Given the description of an element on the screen output the (x, y) to click on. 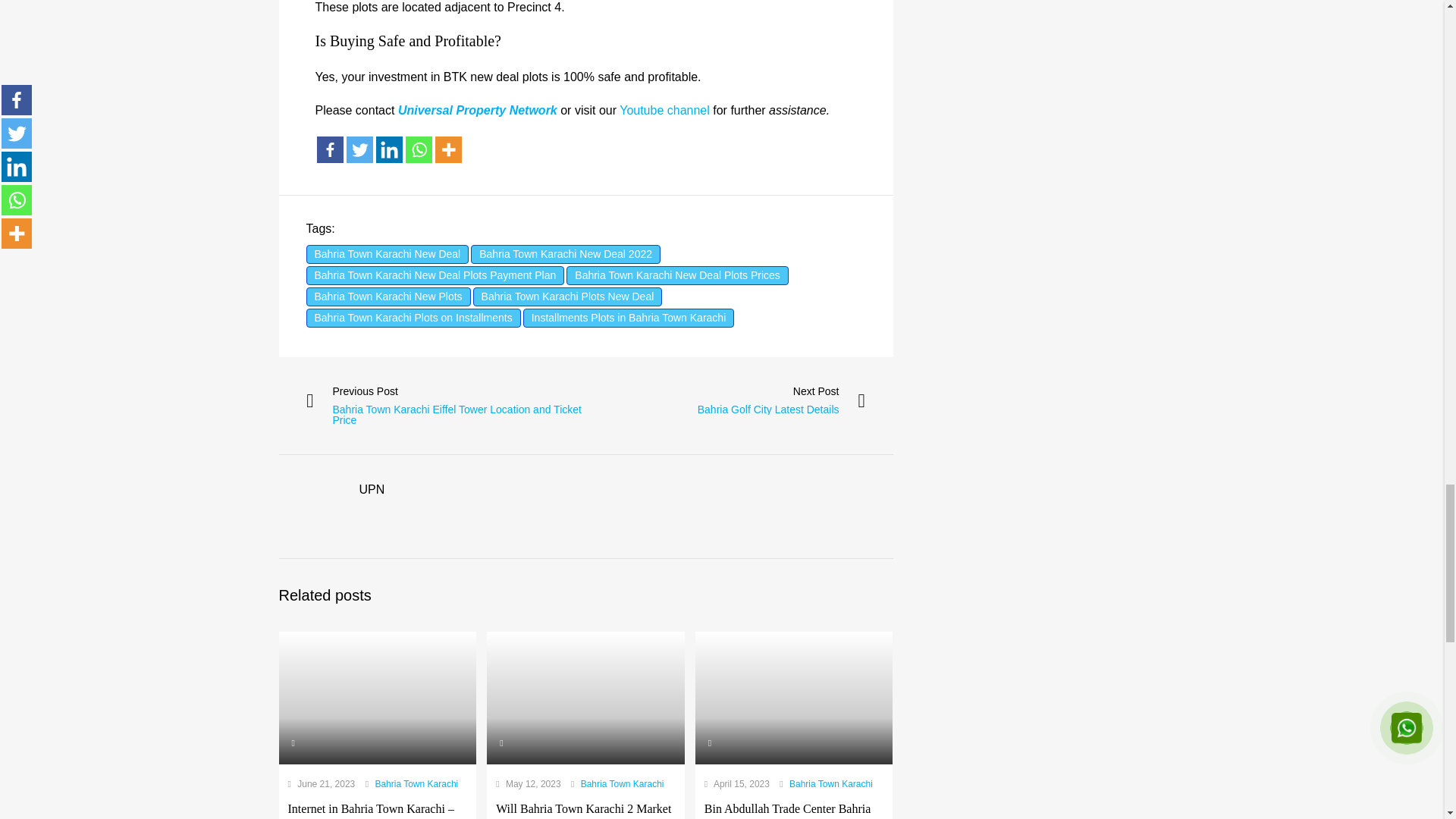
Whatsapp (417, 149)
Facebook (330, 149)
More (448, 149)
Twitter (359, 149)
Linkedin (389, 149)
